Given the description of an element on the screen output the (x, y) to click on. 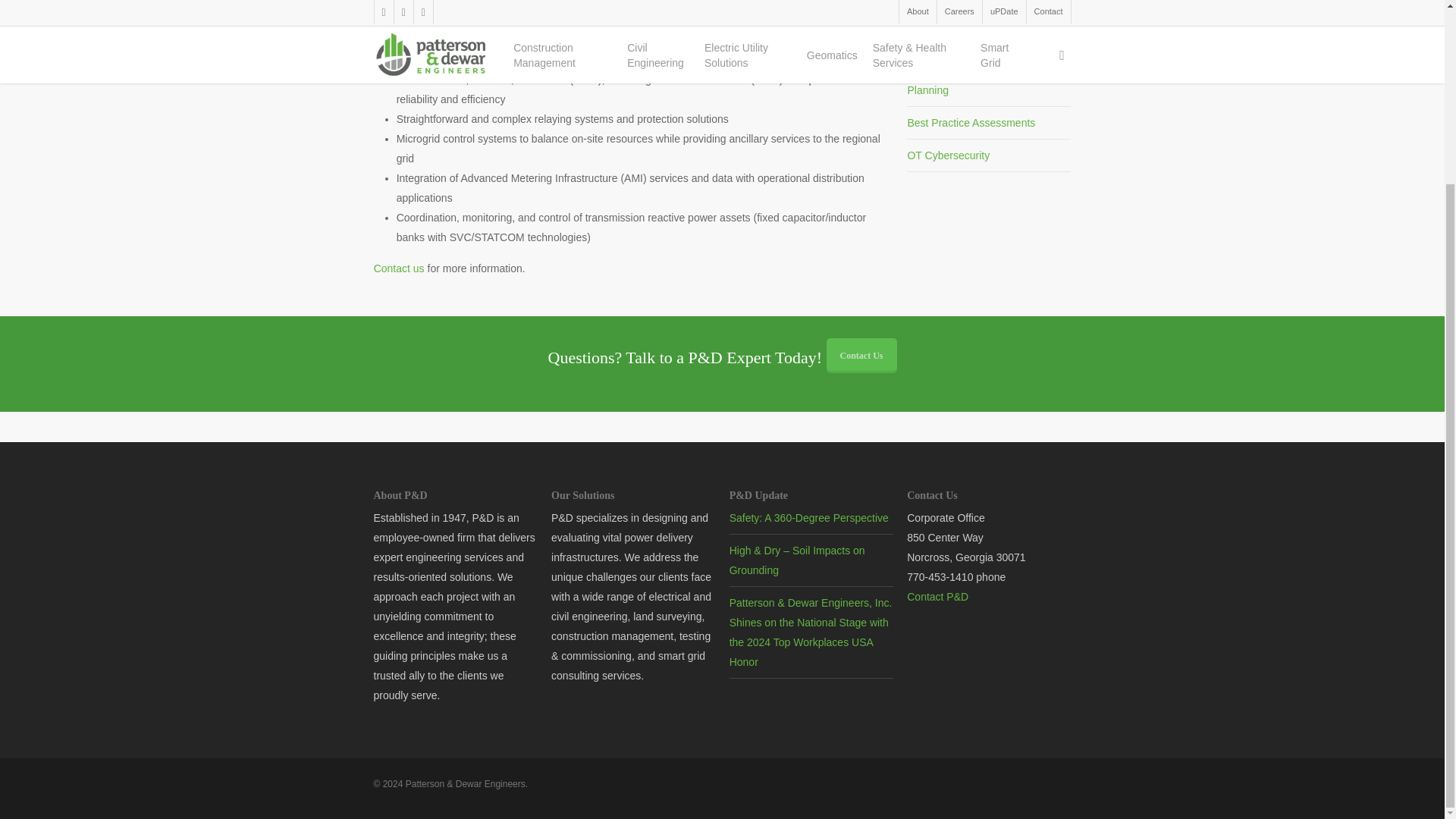
Contact us (399, 268)
OT Cybersecurity (948, 155)
Application Integration (959, 37)
Safety: A 360-Degree Perspective (808, 517)
Contact Us (399, 268)
Contact Us (861, 355)
Best Practice Assessments (971, 122)
